Given the description of an element on the screen output the (x, y) to click on. 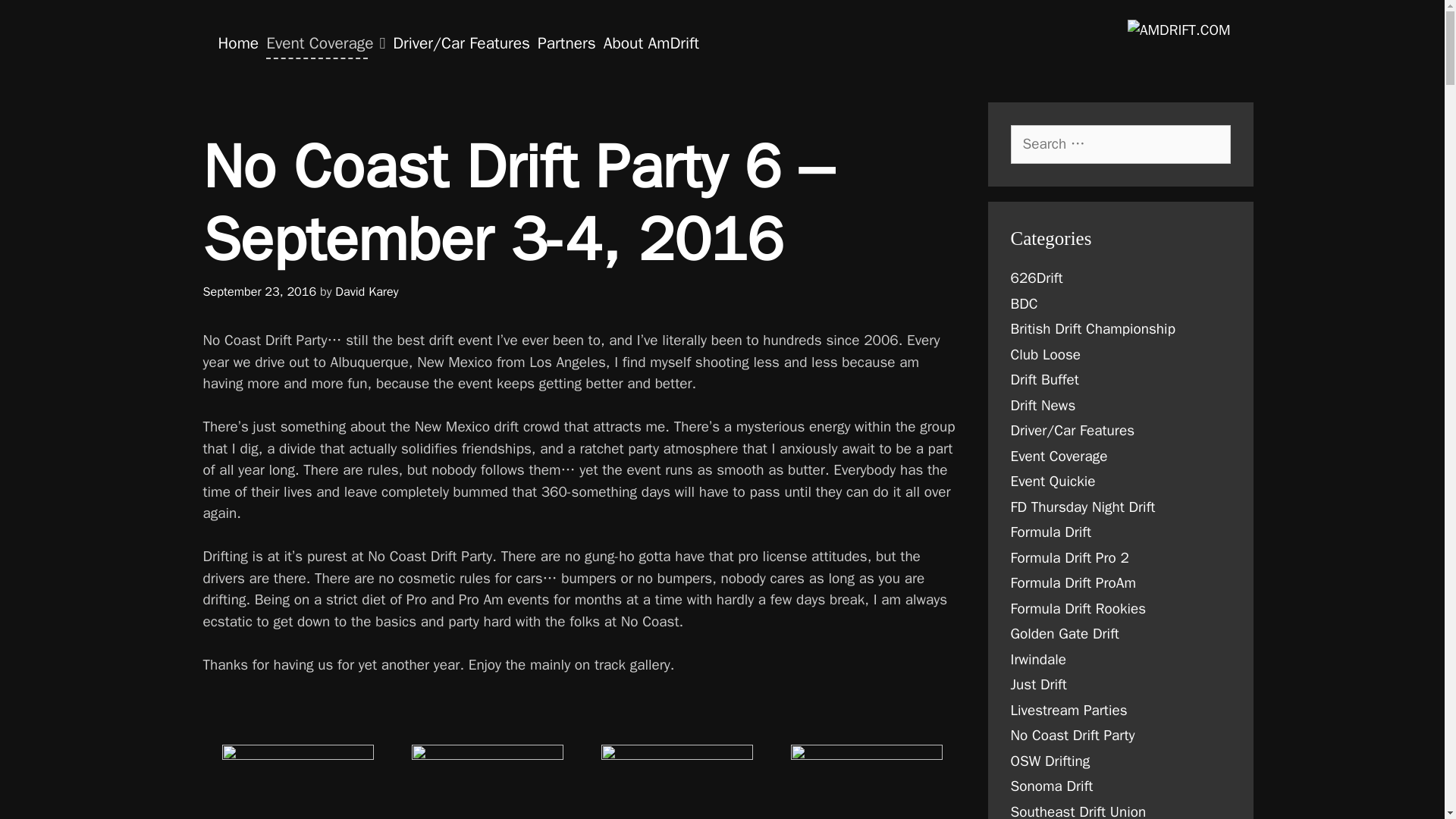
Partners (566, 42)
AMDRIFT.COM (1178, 30)
2:34 pm (260, 291)
View all posts by David Karey (365, 291)
Home (238, 42)
AMDRIFT.COM (1178, 29)
David Karey (365, 291)
About AmDrift (651, 42)
Search for: (1120, 144)
Event Coverage (325, 42)
